Given the description of an element on the screen output the (x, y) to click on. 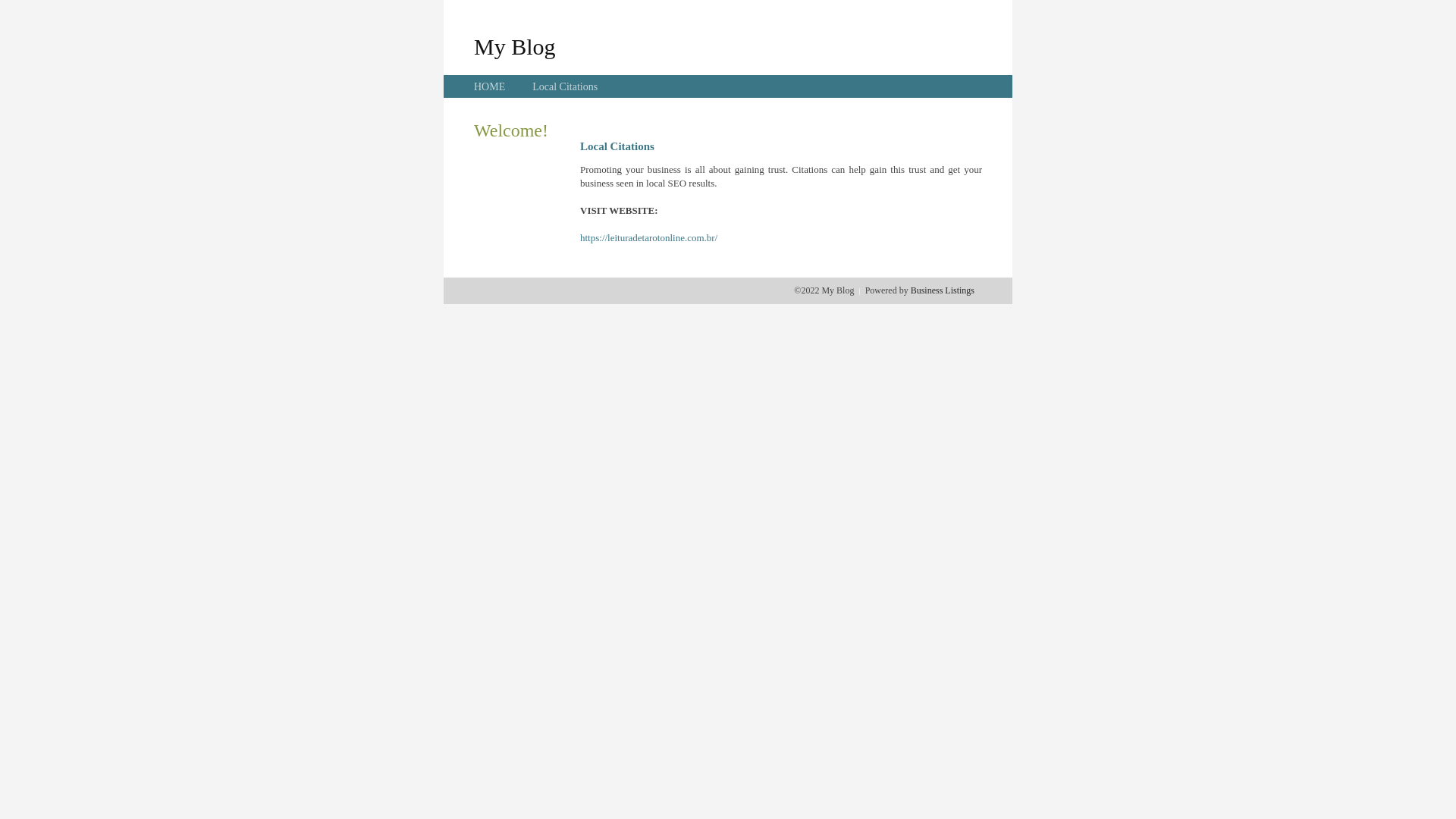
My Blog Element type: text (514, 46)
Business Listings Element type: text (942, 290)
https://leituradetarotonline.com.br/ Element type: text (648, 237)
HOME Element type: text (489, 86)
Local Citations Element type: text (564, 86)
